Given the description of an element on the screen output the (x, y) to click on. 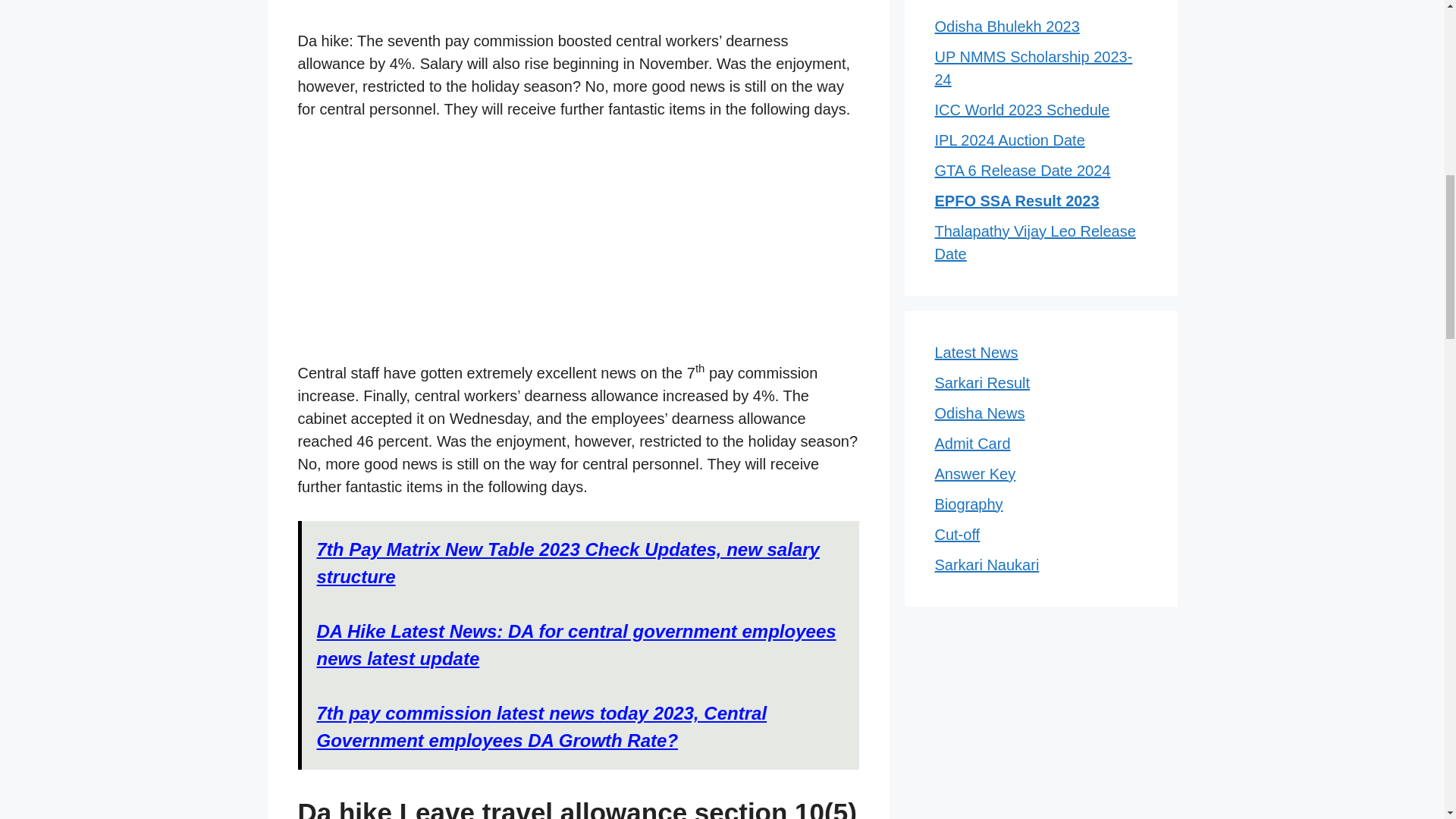
UP NMMS Scholarship 2023-24 (1033, 67)
IPL 2024 Auction Date (1009, 139)
Odisha Bhulekh 2023 (1006, 26)
GTA 6 Release Date 2024 (1021, 170)
ICC World 2023 Schedule (1021, 109)
